Given the description of an element on the screen output the (x, y) to click on. 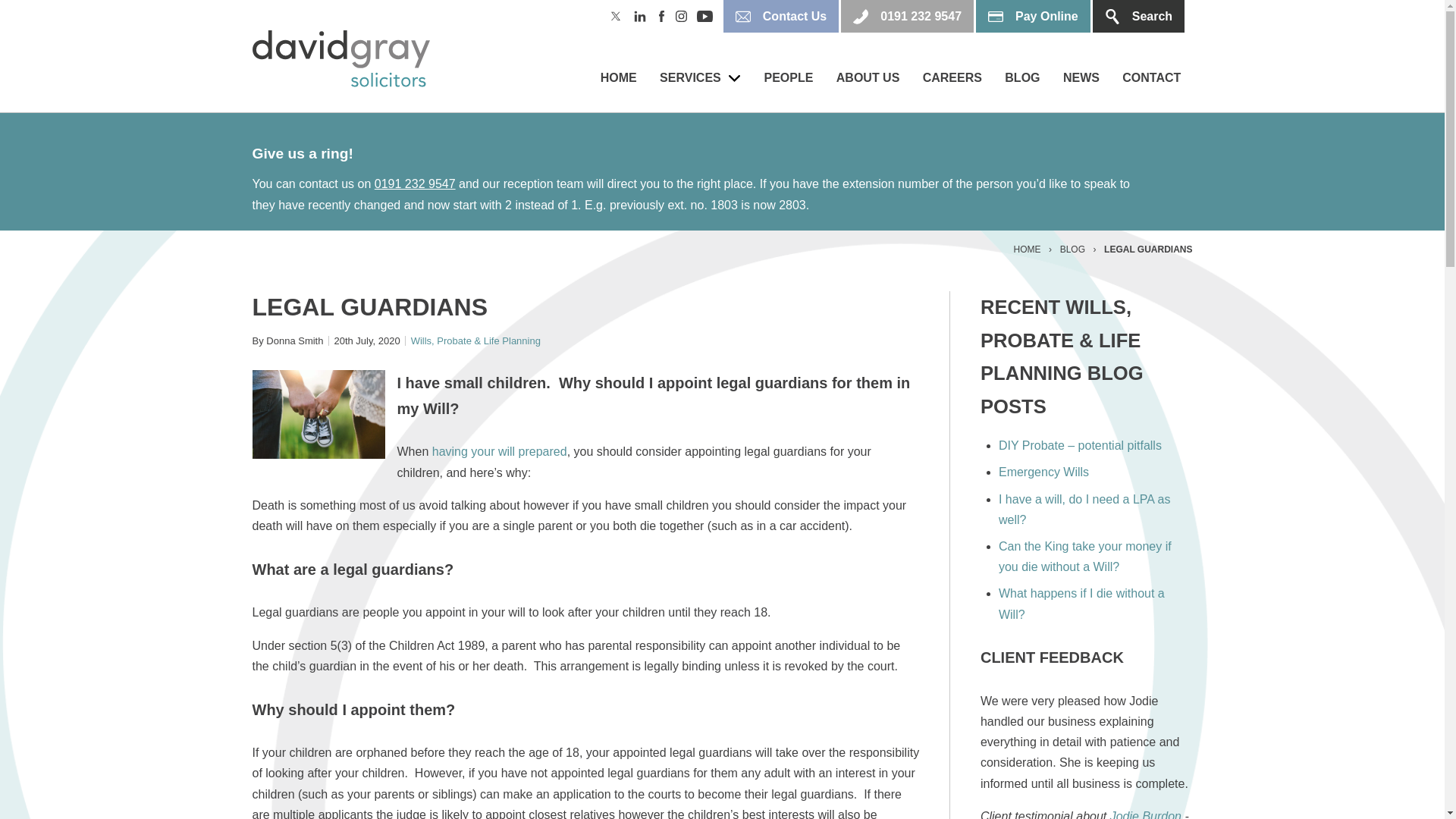
SERVICES (699, 85)
HOME (618, 85)
Like David Gray LLP on Facebook (665, 16)
Follow David Gray LLP on Instagram (686, 16)
Follow David Gray LLP on Twitter (619, 16)
Can the King take your money if you die without a Will? (1085, 556)
What happens if I die without a Will? (1081, 603)
I have a will, do I need a LPA as well? (1084, 509)
Follow David Gray LLP on YouTube (708, 16)
Emergency Wills (1043, 472)
